Given the description of an element on the screen output the (x, y) to click on. 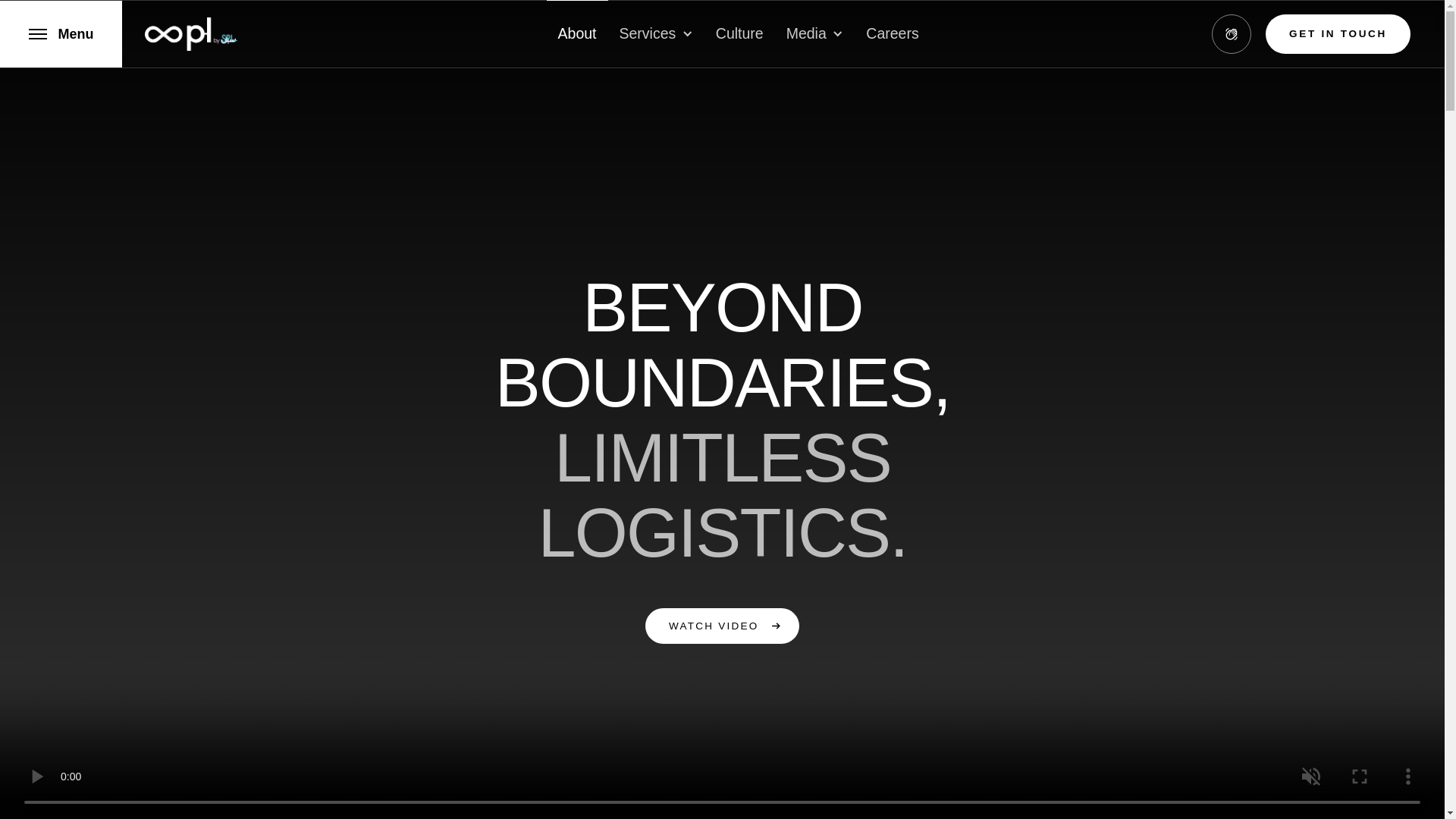
About (577, 33)
Menu (61, 33)
GET IN TOUCH (1337, 34)
Careers (892, 33)
WATCH VIDEO (722, 625)
Culture (739, 33)
